Given the description of an element on the screen output the (x, y) to click on. 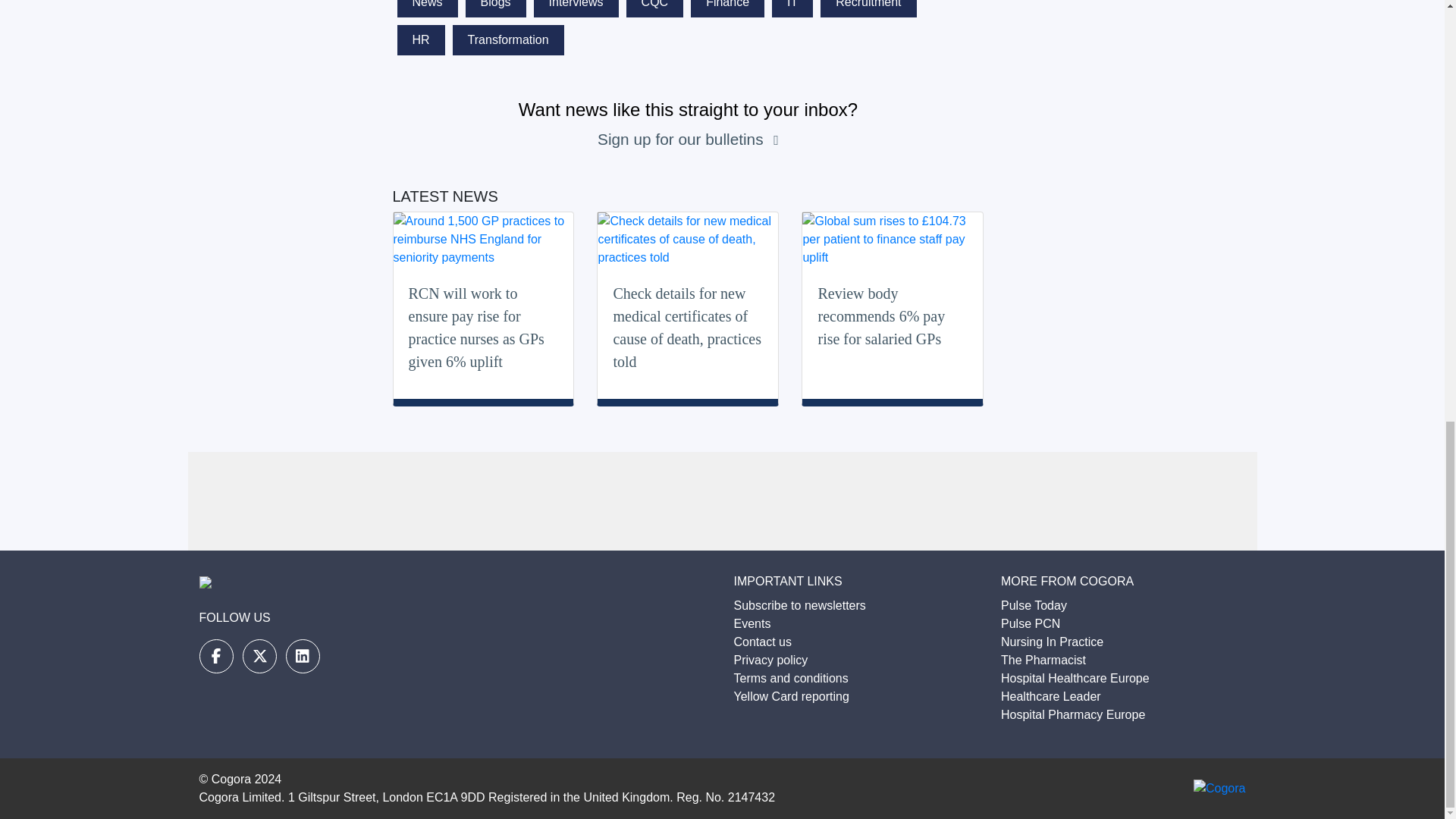
Pulse PCN (1030, 623)
Hospital Pharmacy Europe (1072, 714)
Yellow Card reporting (790, 696)
Terms and conditions (790, 677)
Healthcare Leader (1050, 696)
Pulse Today (1034, 604)
The Pharmacist (1043, 659)
Subscribe to newsletters (799, 604)
Contact us (762, 641)
Nursing In Practice (1052, 641)
Events (752, 623)
Privacy policy (770, 659)
Sign up for our bulletins (681, 139)
Hospital Healthcare Europe (1075, 677)
